Given the description of an element on the screen output the (x, y) to click on. 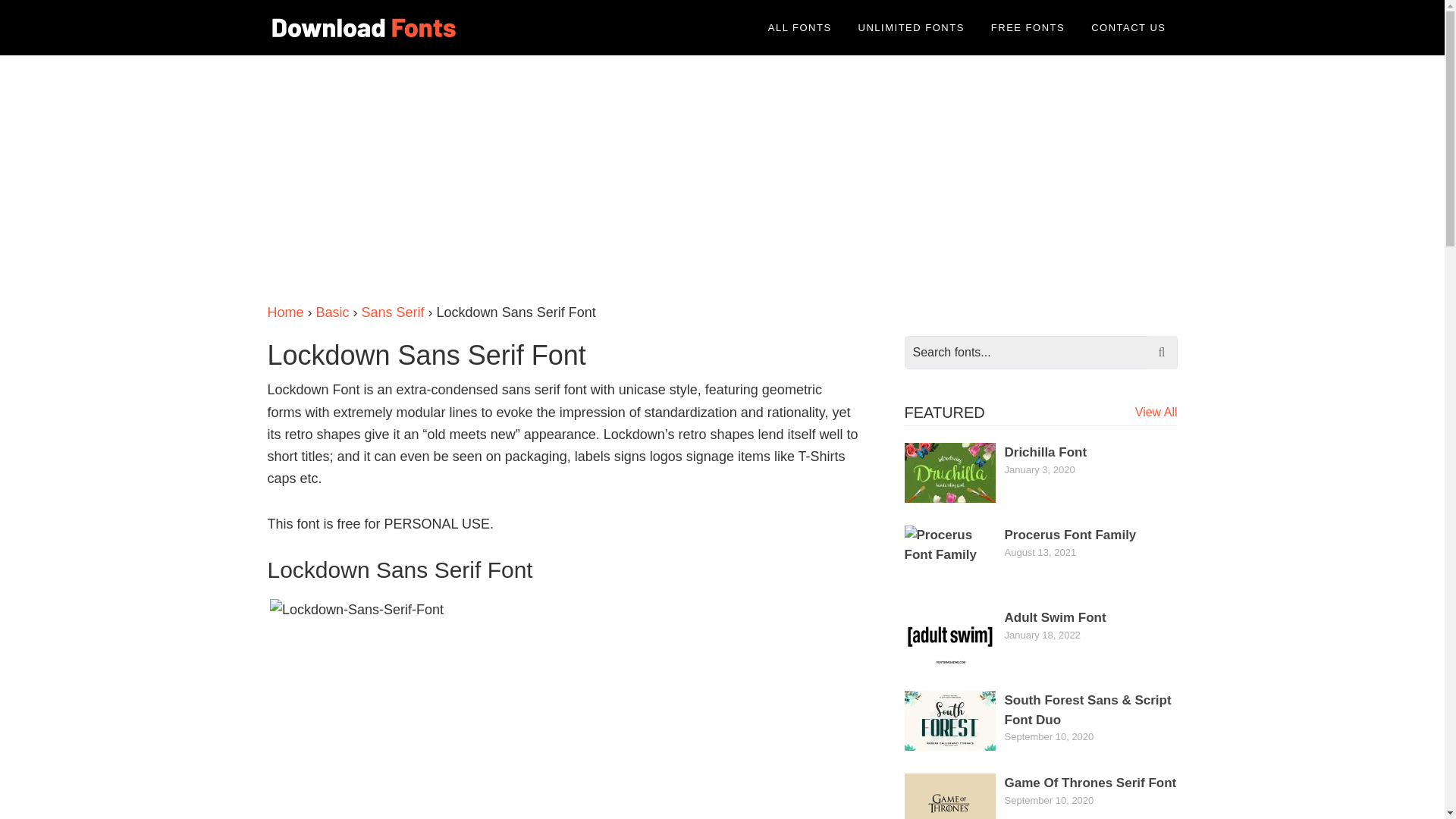
CONTACT US (1128, 27)
Home (284, 312)
FREE FONTS (1027, 27)
ALL FONTS (800, 27)
UNLIMITED FONTS (911, 27)
Sans Serif (393, 312)
Basic (332, 312)
